Given the description of an element on the screen output the (x, y) to click on. 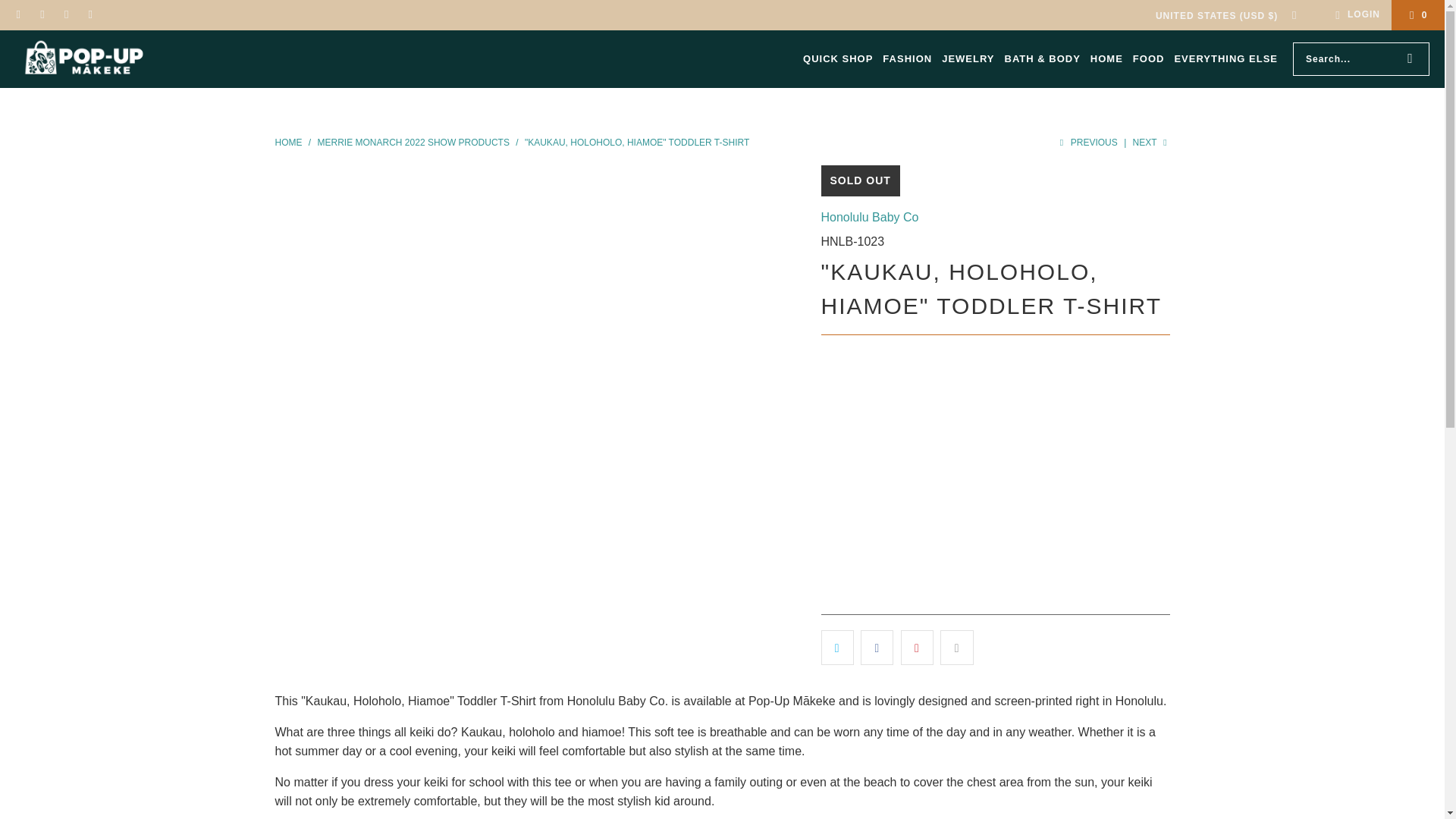
Share this on Twitter (837, 647)
Share this on Facebook (876, 647)
Next (1151, 142)
My Account  (1355, 14)
Email this to a friend (956, 647)
Previous (1086, 142)
Share this on Pinterest (917, 647)
Merrie Monarch 2022 Show Products (414, 142)
